Given the description of an element on the screen output the (x, y) to click on. 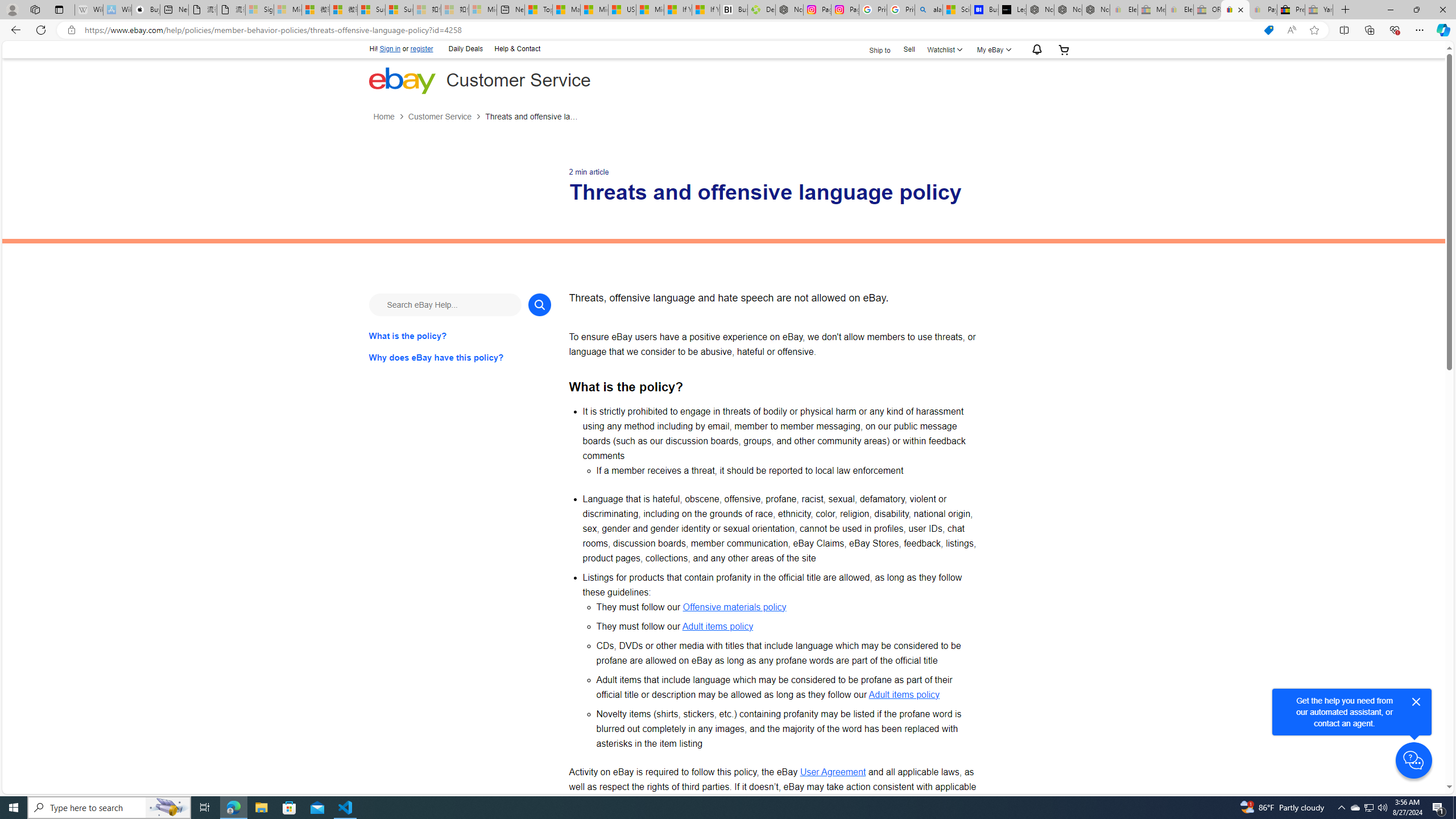
My eBayExpand My eBay (992, 49)
What is the policy? (459, 335)
Help & Contact (516, 49)
Ship to (872, 48)
eBay Home (401, 80)
register (421, 49)
